Given the description of an element on the screen output the (x, y) to click on. 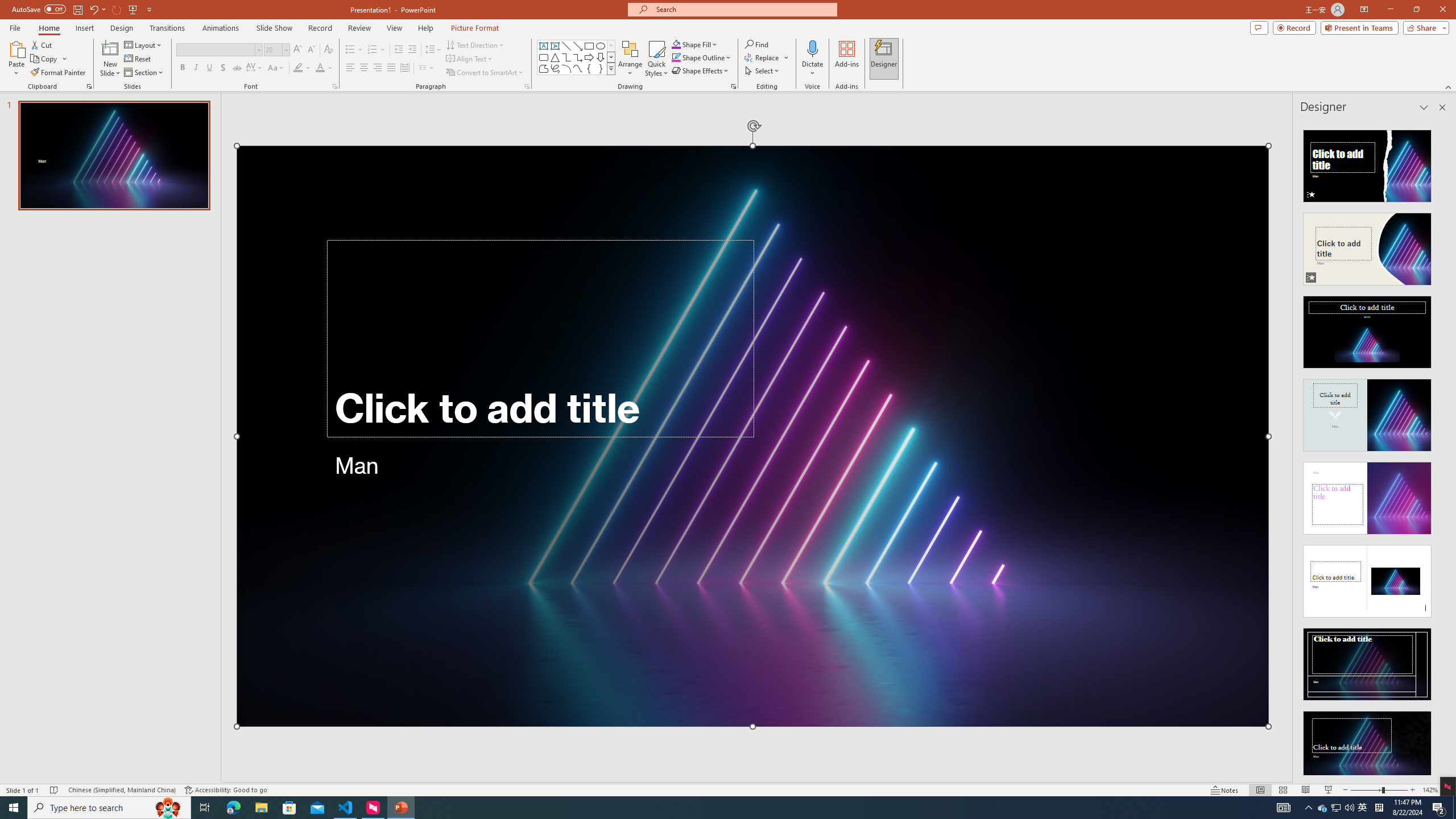
Design Idea with Animation (1366, 245)
